Given the description of an element on the screen output the (x, y) to click on. 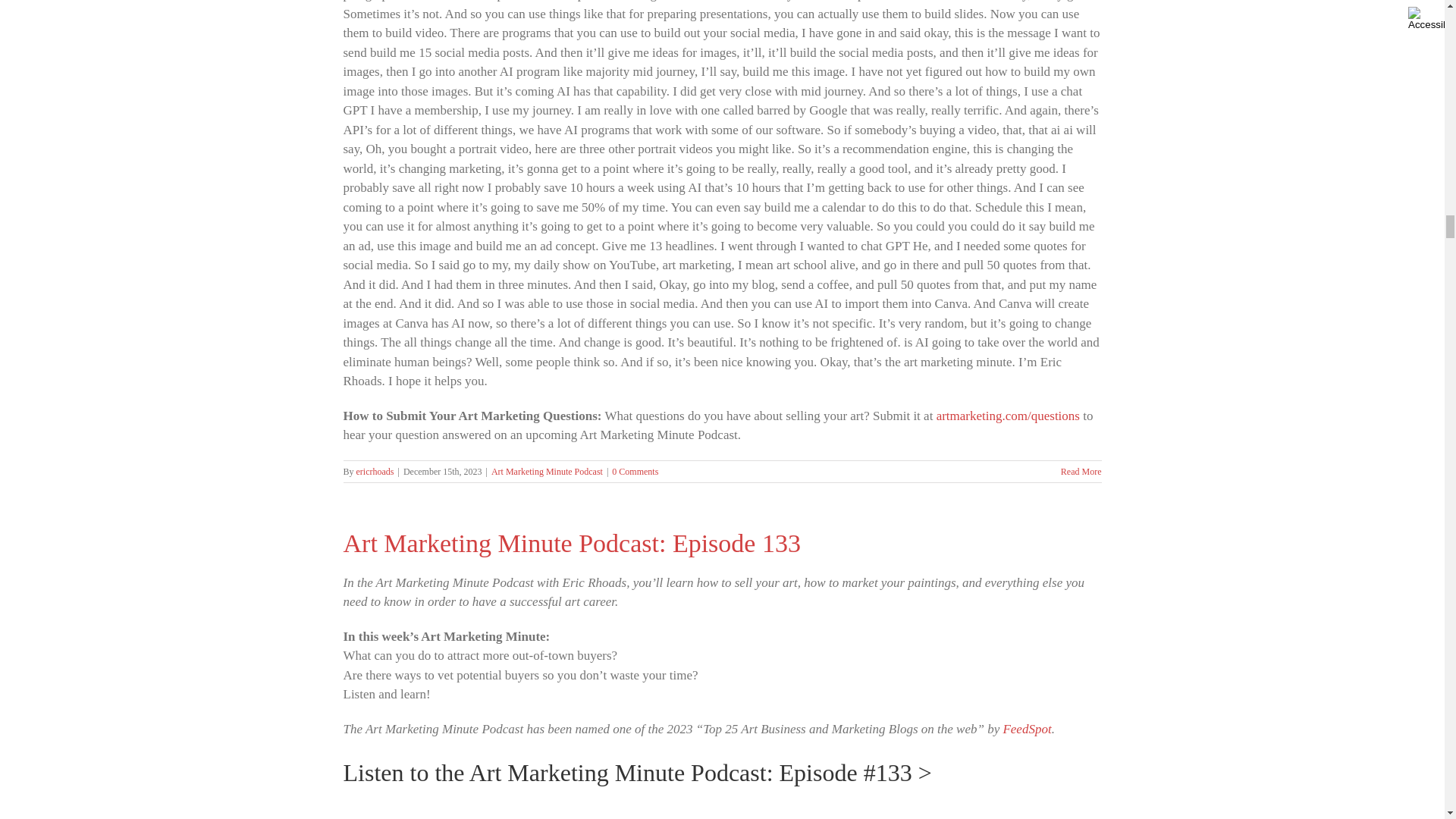
Posts by ericrhoads (375, 471)
